Given the description of an element on the screen output the (x, y) to click on. 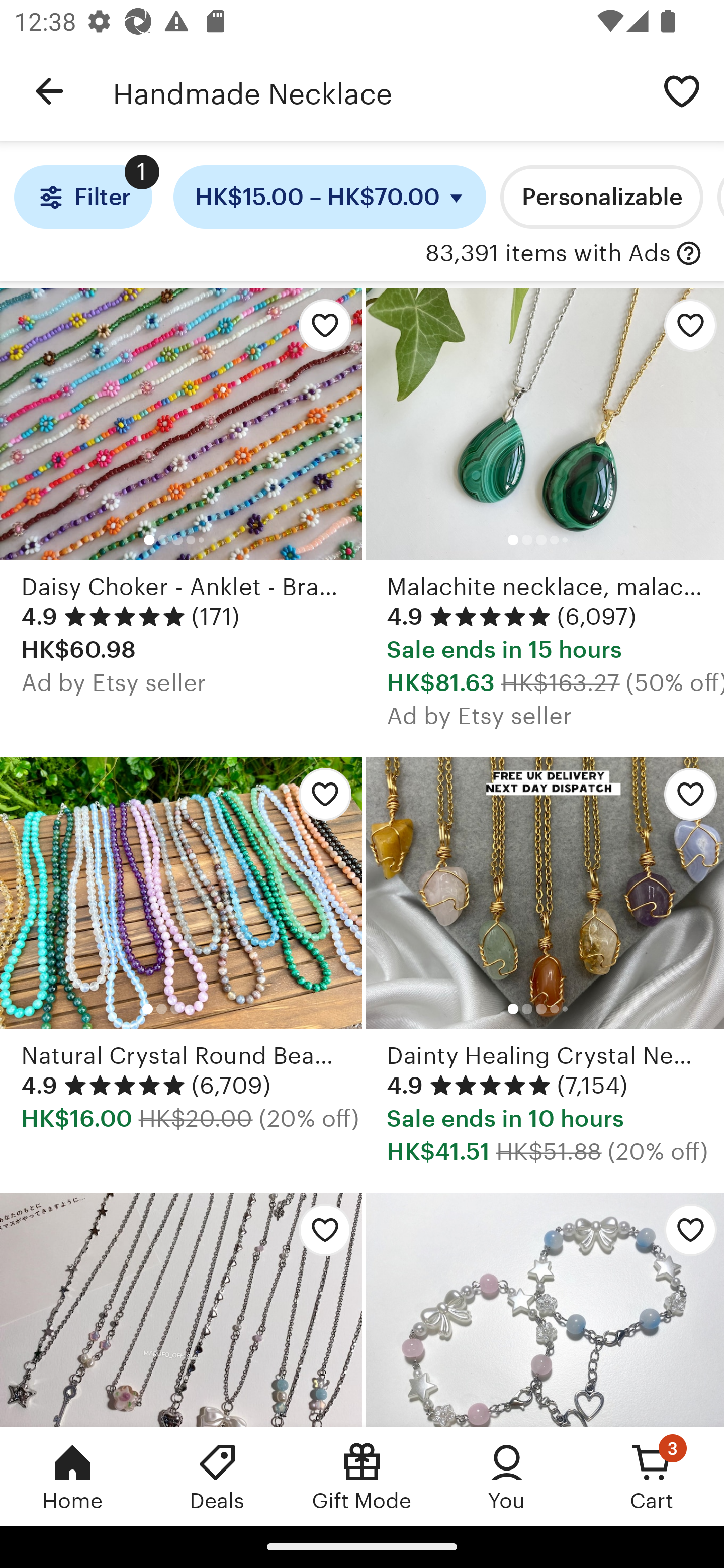
Navigate up (49, 91)
Save search (681, 90)
Handmade Necklace (375, 91)
Filter (82, 197)
HK$15.00 – HK$70.00 (329, 197)
Personalizable (601, 197)
83,391 items with Ads (548, 253)
with Ads (688, 253)
Add Daisy Choker - Anklet - Bracelet to favorites (319, 330)
Deals (216, 1475)
Gift Mode (361, 1475)
You (506, 1475)
Cart, 3 new notifications Cart (651, 1475)
